Given the description of an element on the screen output the (x, y) to click on. 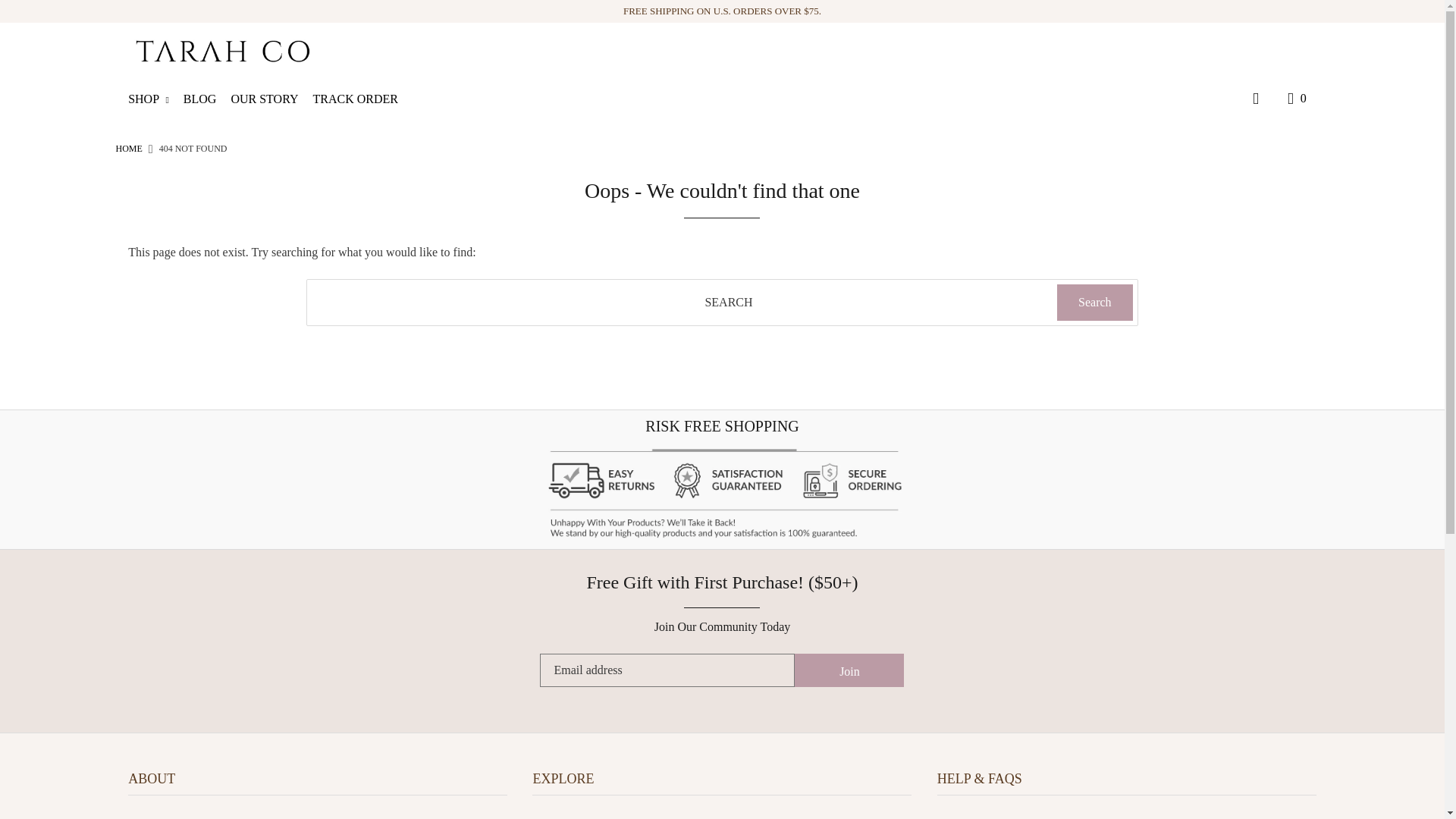
TRACK ORDER (361, 98)
OUR STORY (269, 98)
Search (1094, 302)
SHOP (154, 98)
Home (128, 148)
  0   (1294, 98)
BLOG (205, 98)
